Given the description of an element on the screen output the (x, y) to click on. 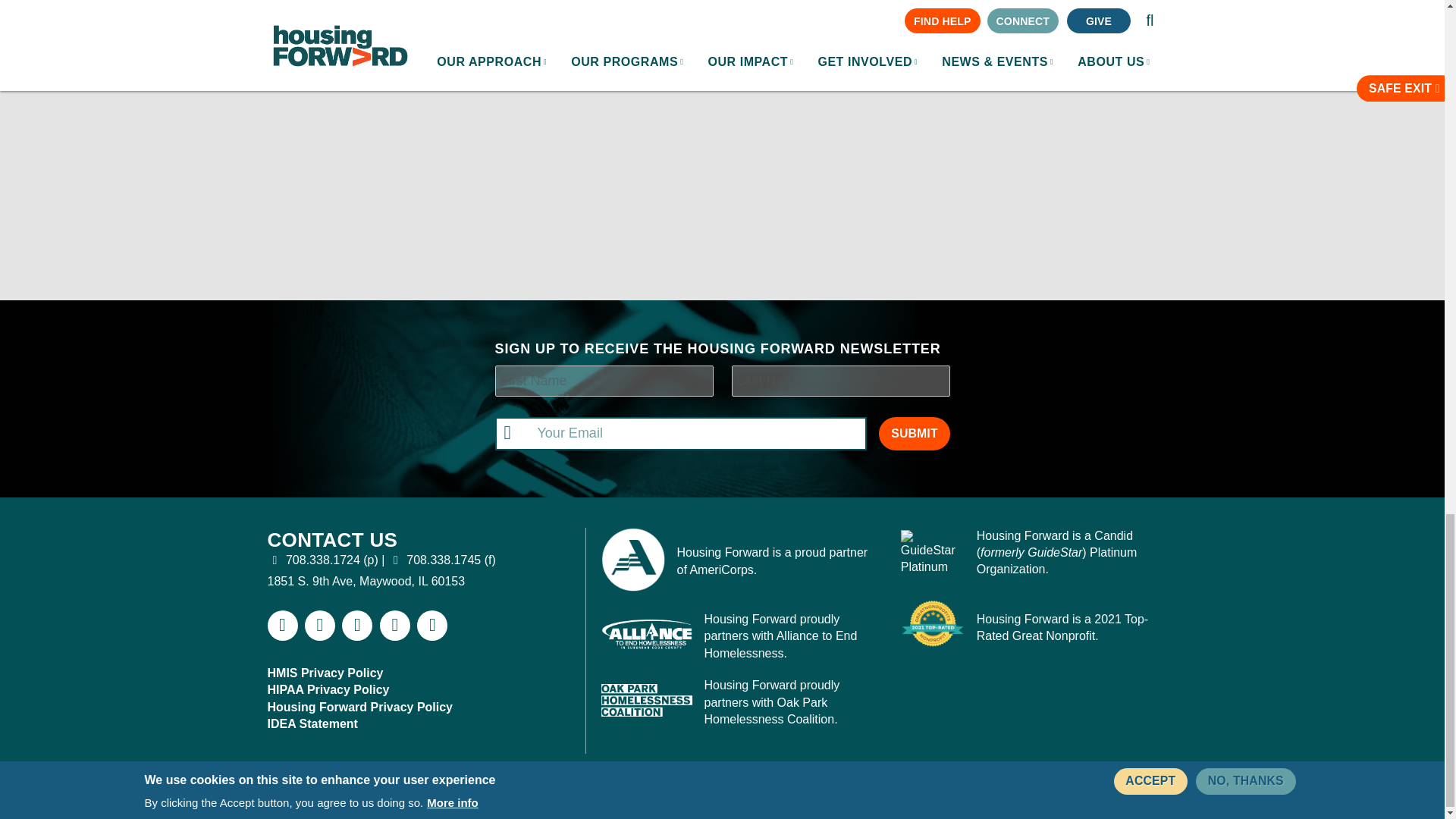
Submit (914, 433)
